Given the description of an element on the screen output the (x, y) to click on. 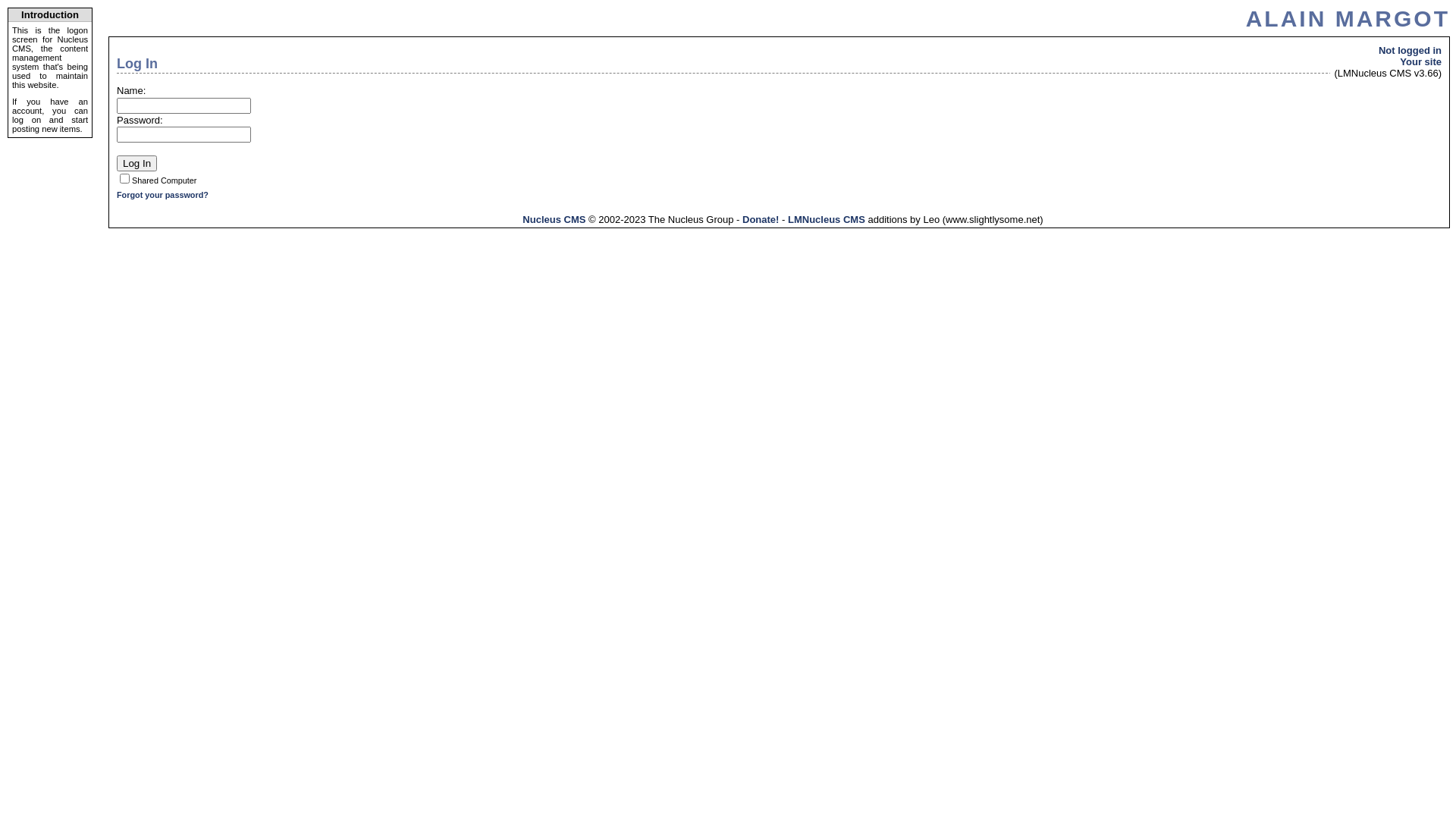
Donate! Element type: text (760, 219)
Log In Element type: text (136, 163)
LMNucleus CMS Element type: text (826, 219)
Nucleus CMS Element type: text (553, 219)
Your site Element type: text (1420, 61)
Forgot your password? Element type: text (162, 194)
Not logged in Element type: text (1409, 50)
